Given the description of an element on the screen output the (x, y) to click on. 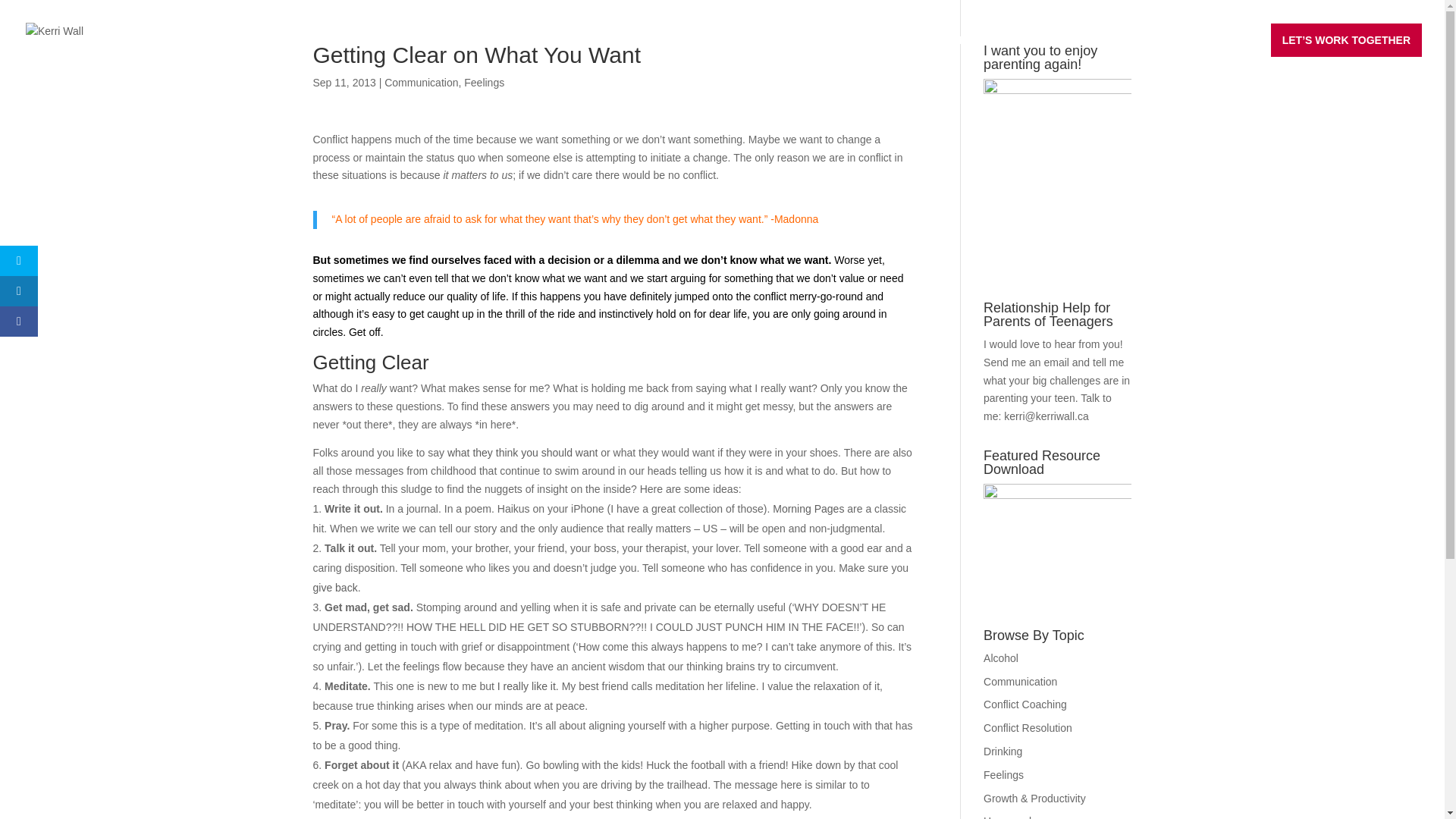
Alcohol (1000, 657)
Communication (1020, 681)
Feelings (1003, 775)
what they think you should want (521, 452)
Conflict Resolution (1027, 727)
CONTACT (1224, 51)
Morning Pages (808, 508)
SERVICES FOR PARENTS (913, 51)
Drinking (1003, 751)
Homework (1008, 816)
ABOUT (1161, 51)
I really like it. (527, 686)
give back (334, 587)
Conflict Coaching (1025, 704)
Feelings (483, 82)
